Given the description of an element on the screen output the (x, y) to click on. 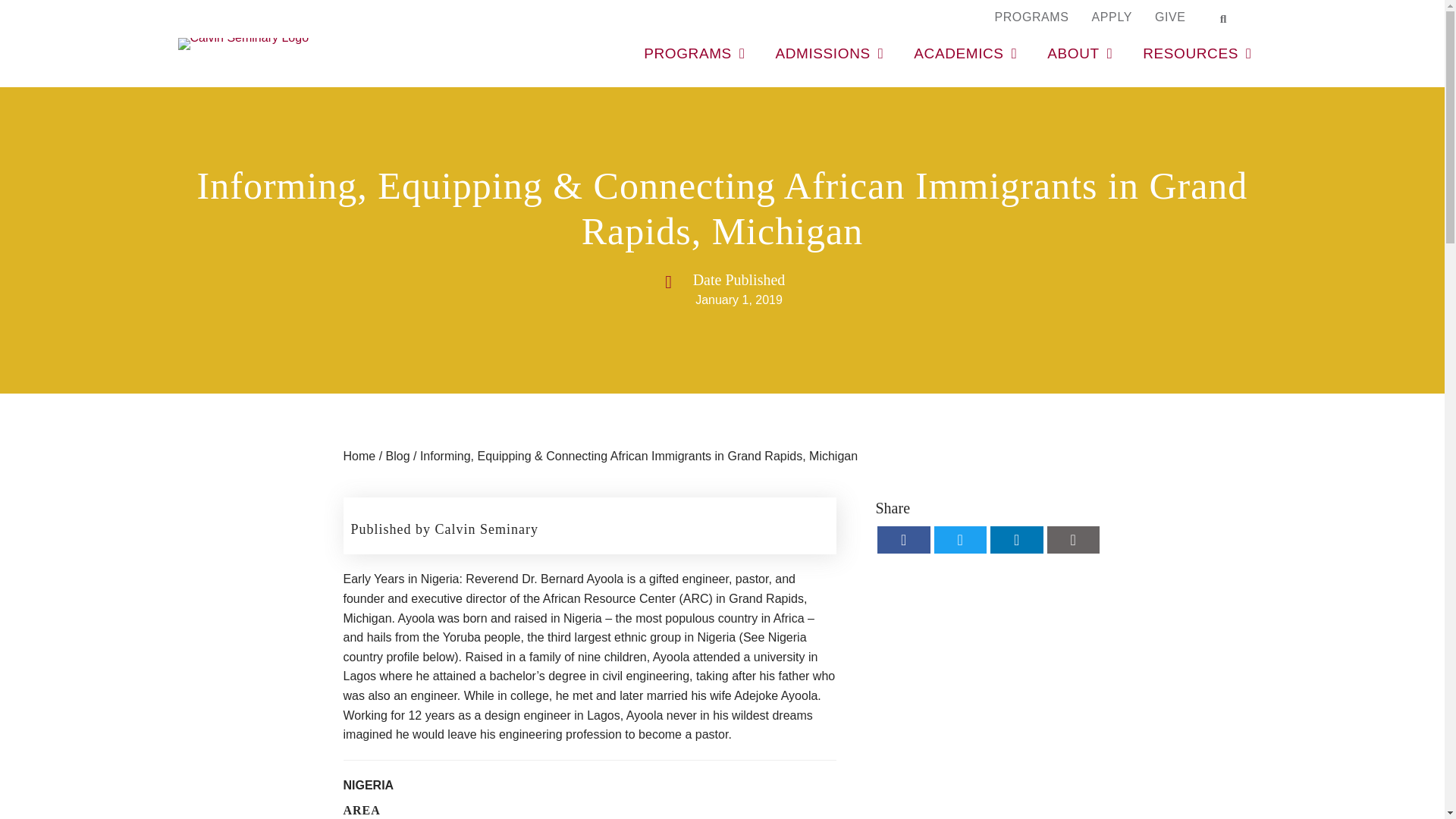
ACADEMICS (964, 52)
APPLY (1111, 17)
GIVE (1169, 17)
ADMISSIONS (828, 52)
PROGRAMS (1031, 17)
PROGRAMS (693, 52)
calvin-logo (242, 43)
